Given the description of an element on the screen output the (x, y) to click on. 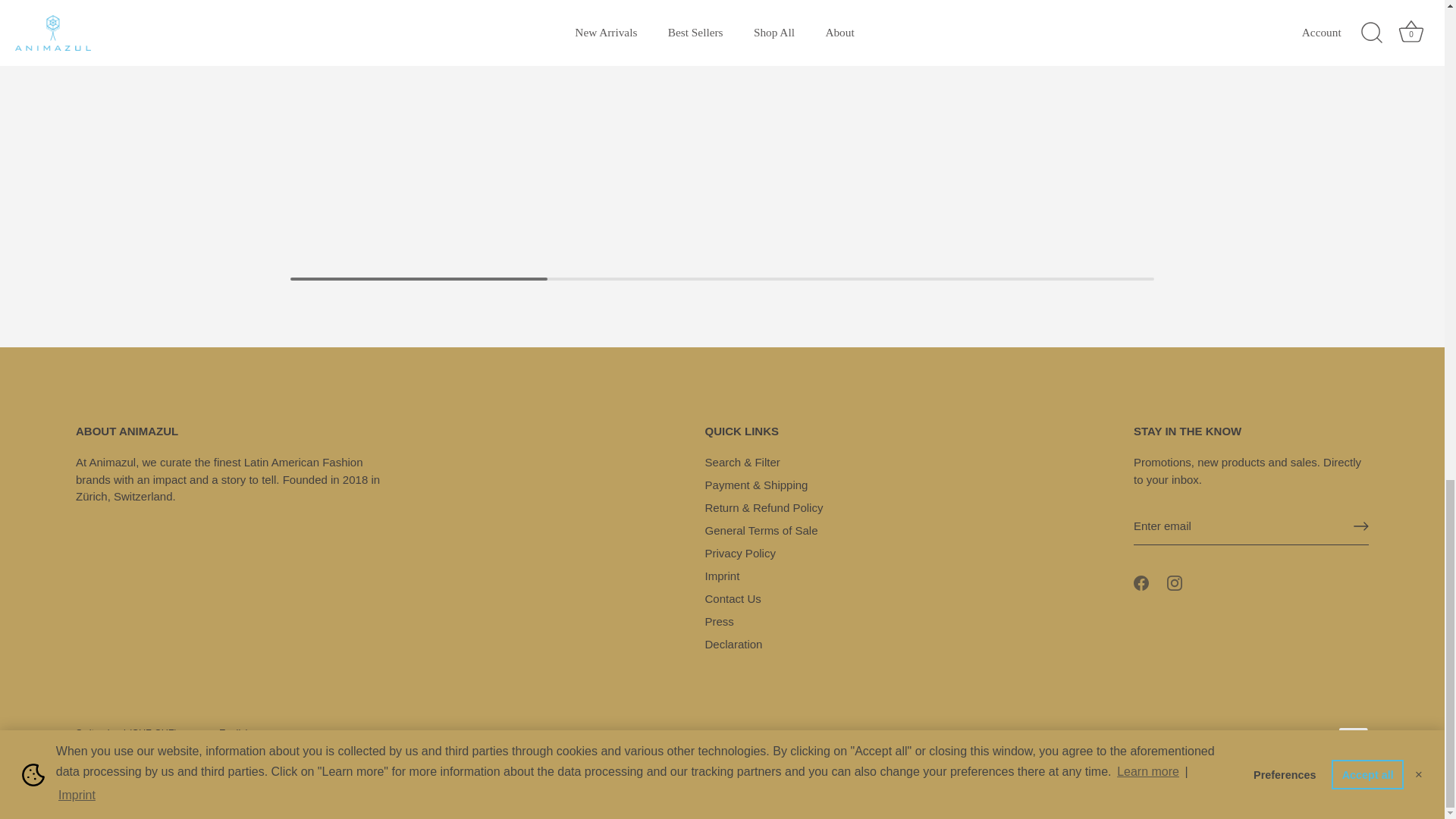
Instagram (1174, 582)
RIGHT ARROW LONG (1361, 525)
PayPal (1353, 736)
